Given the description of an element on the screen output the (x, y) to click on. 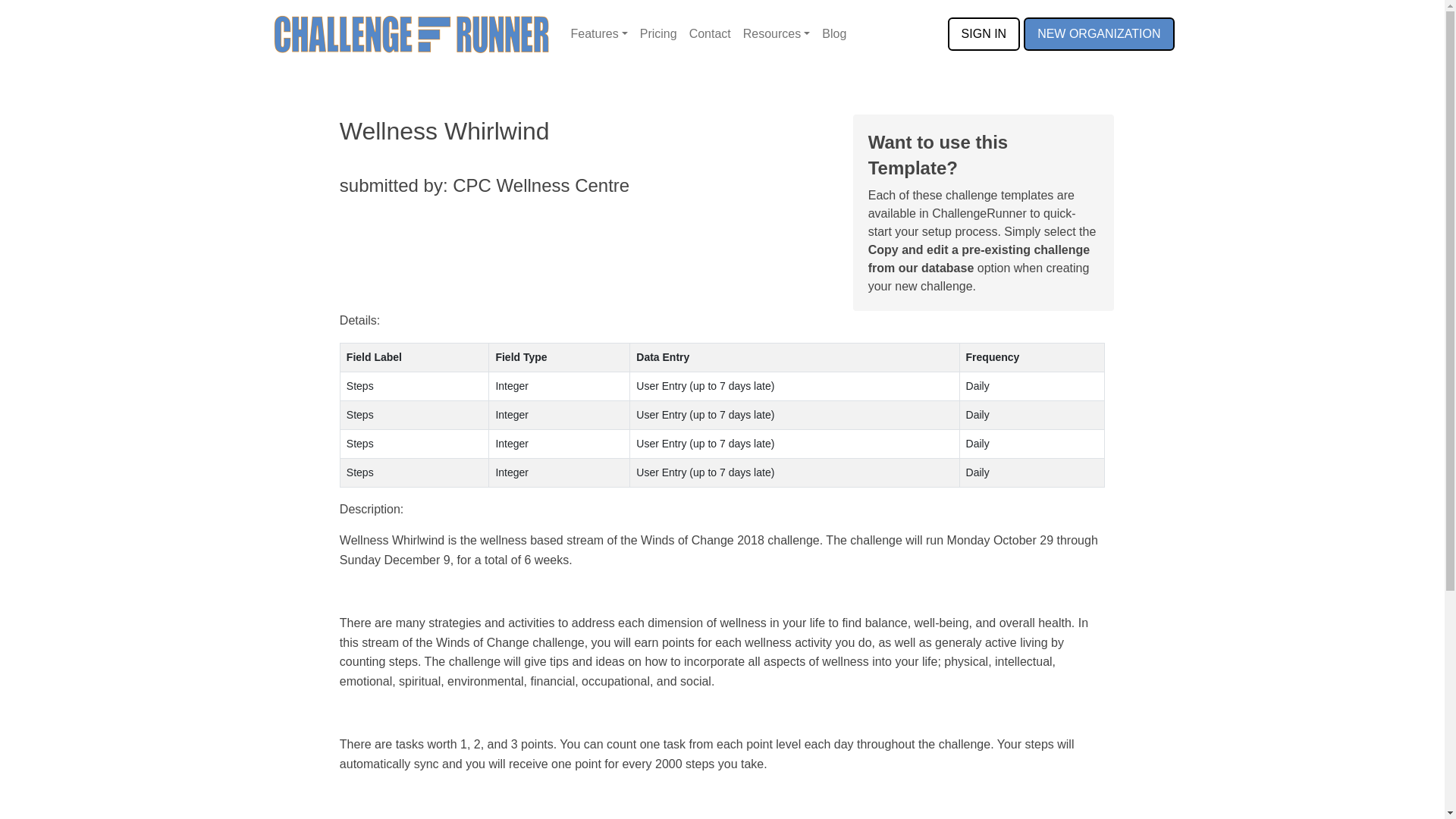
Resources (776, 33)
SIGN IN (983, 33)
Contact (709, 33)
Pricing (657, 33)
Contact Us (709, 33)
Pricing Page (657, 33)
Features (598, 33)
NEW ORGANIZATION (1098, 33)
Blog (833, 33)
